Given the description of an element on the screen output the (x, y) to click on. 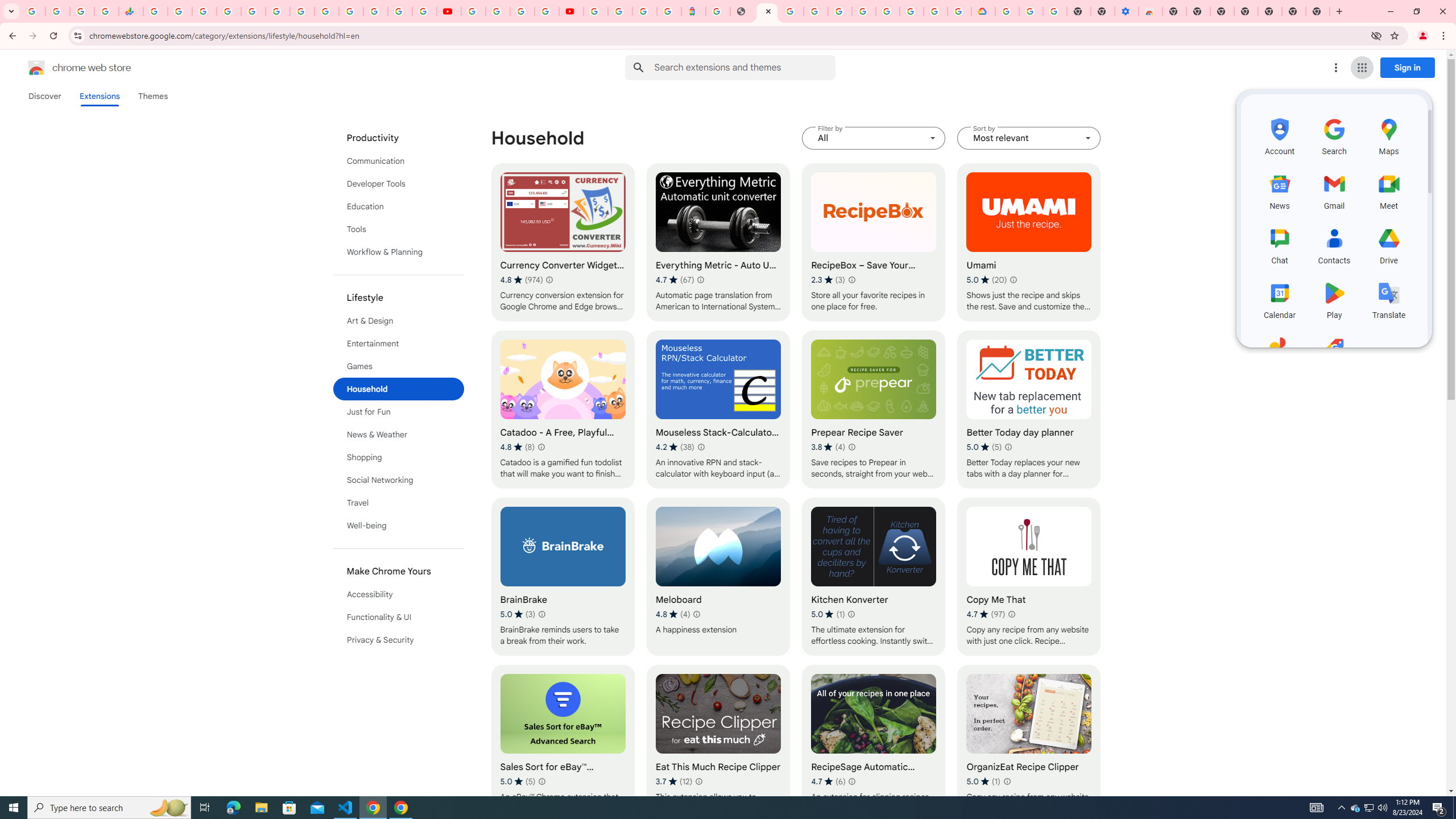
Discover (43, 95)
Copy Me That (1028, 576)
Communication (398, 160)
Learn more about results and reviews "Meloboard" (696, 613)
Chrome Web Store - Household (766, 11)
Sign in - Google Accounts (1007, 11)
Sign in - Google Accounts (228, 11)
Google Account Help (1030, 11)
Turn cookies on or off - Computer - Google Account Help (1054, 11)
